Given the description of an element on the screen output the (x, y) to click on. 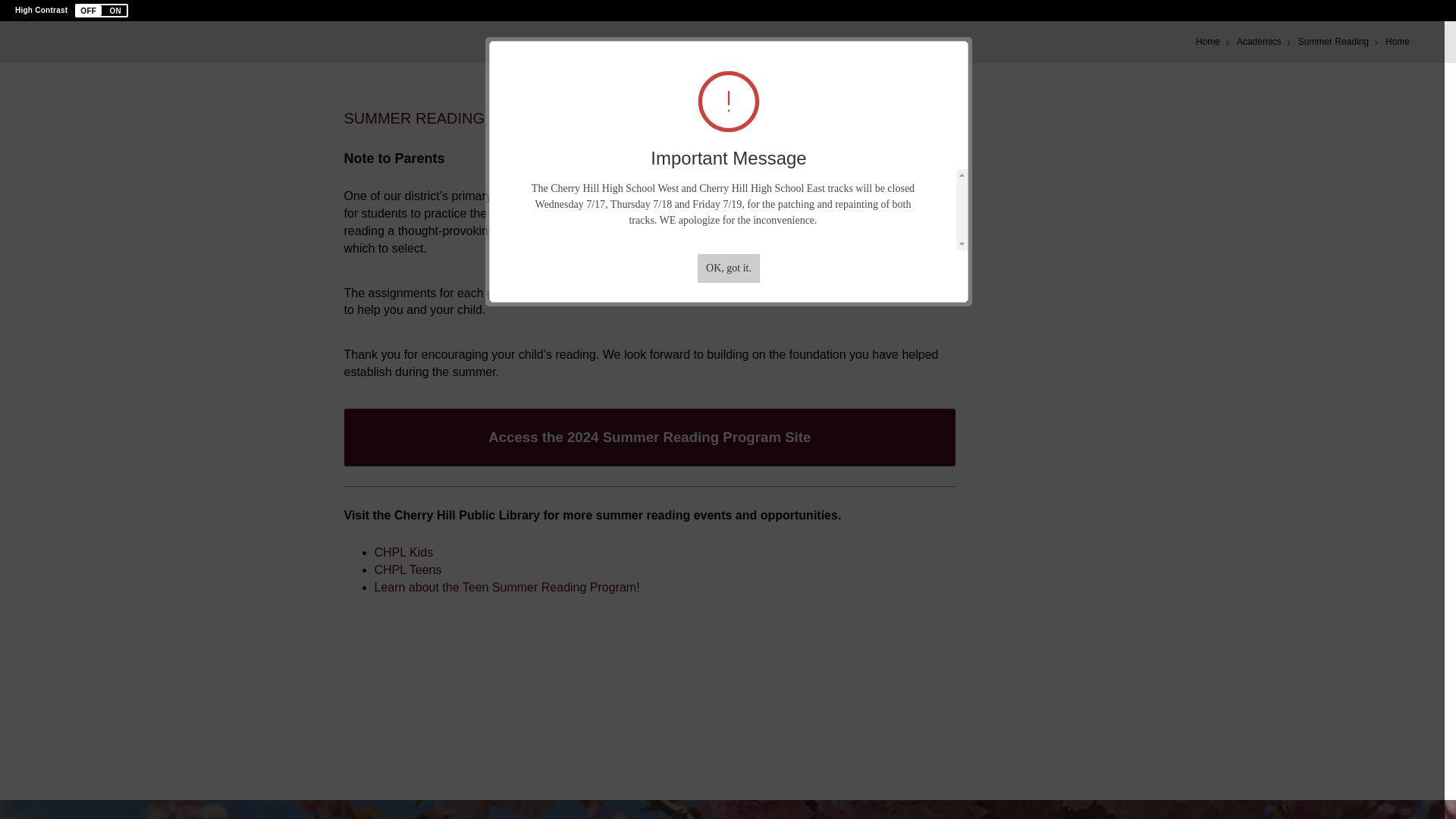
OK, got it. (728, 267)
CHPL Kids (403, 552)
CHPL Teens (408, 569)
